Given the description of an element on the screen output the (x, y) to click on. 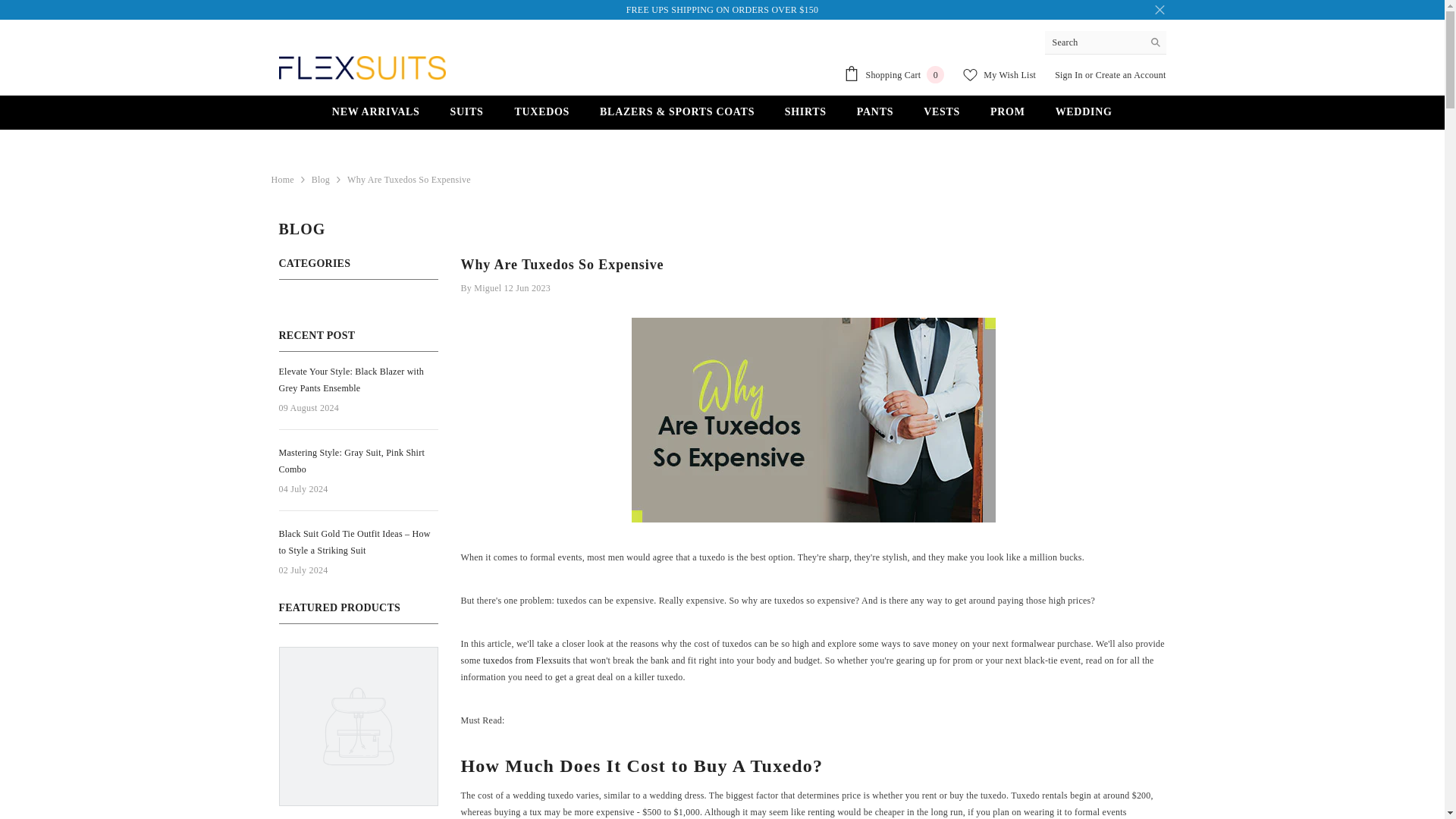
My Wish List (998, 74)
SUITS (467, 116)
Sign In (1068, 74)
Create an Account (893, 74)
Example product title (1131, 74)
Close (376, 116)
